Given the description of an element on the screen output the (x, y) to click on. 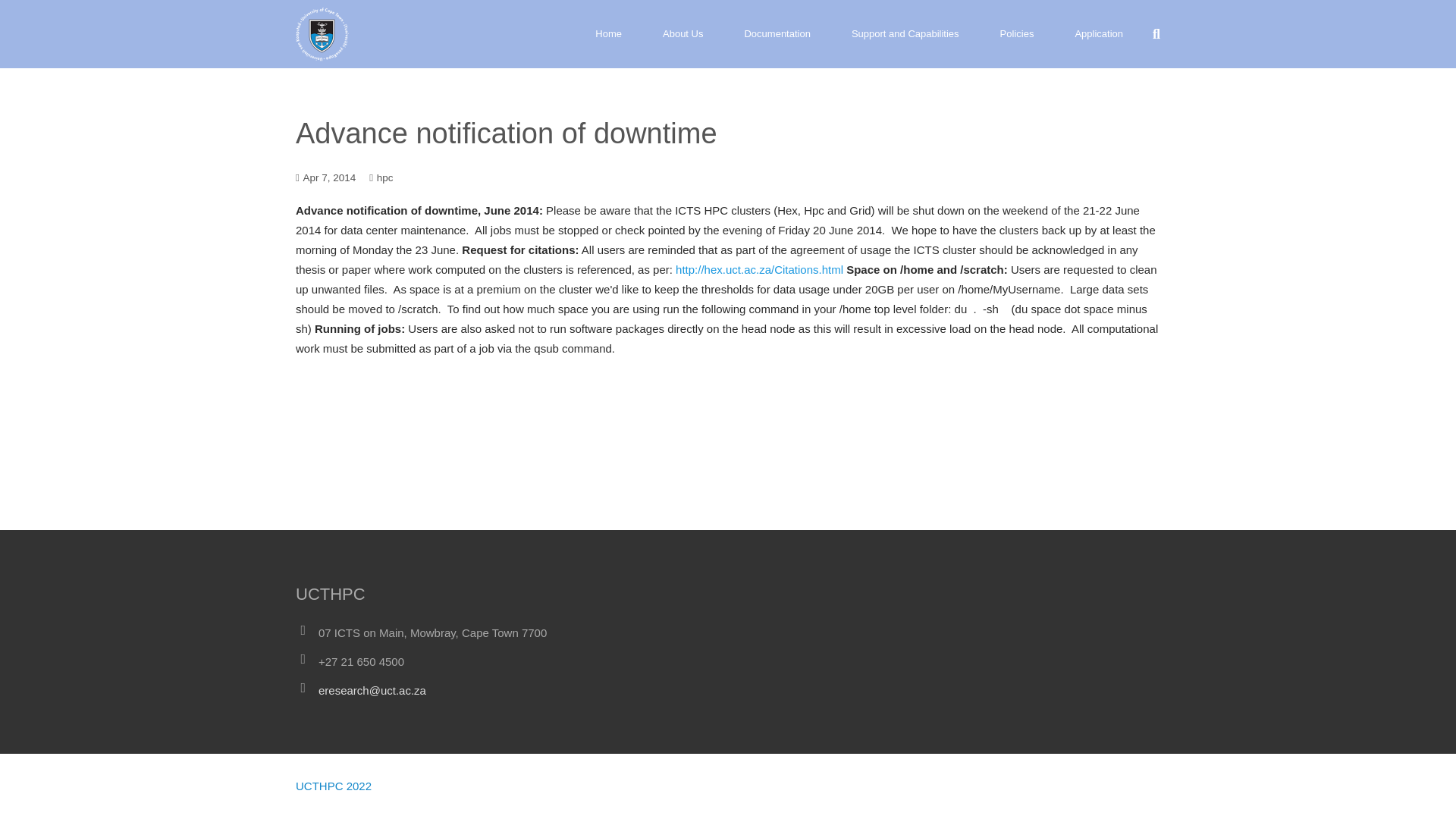
Support and Capabilities (905, 33)
Application (1098, 33)
Documentation (776, 33)
hpc (385, 177)
Policies (1016, 33)
Home (608, 33)
About Us (682, 33)
